Given the description of an element on the screen output the (x, y) to click on. 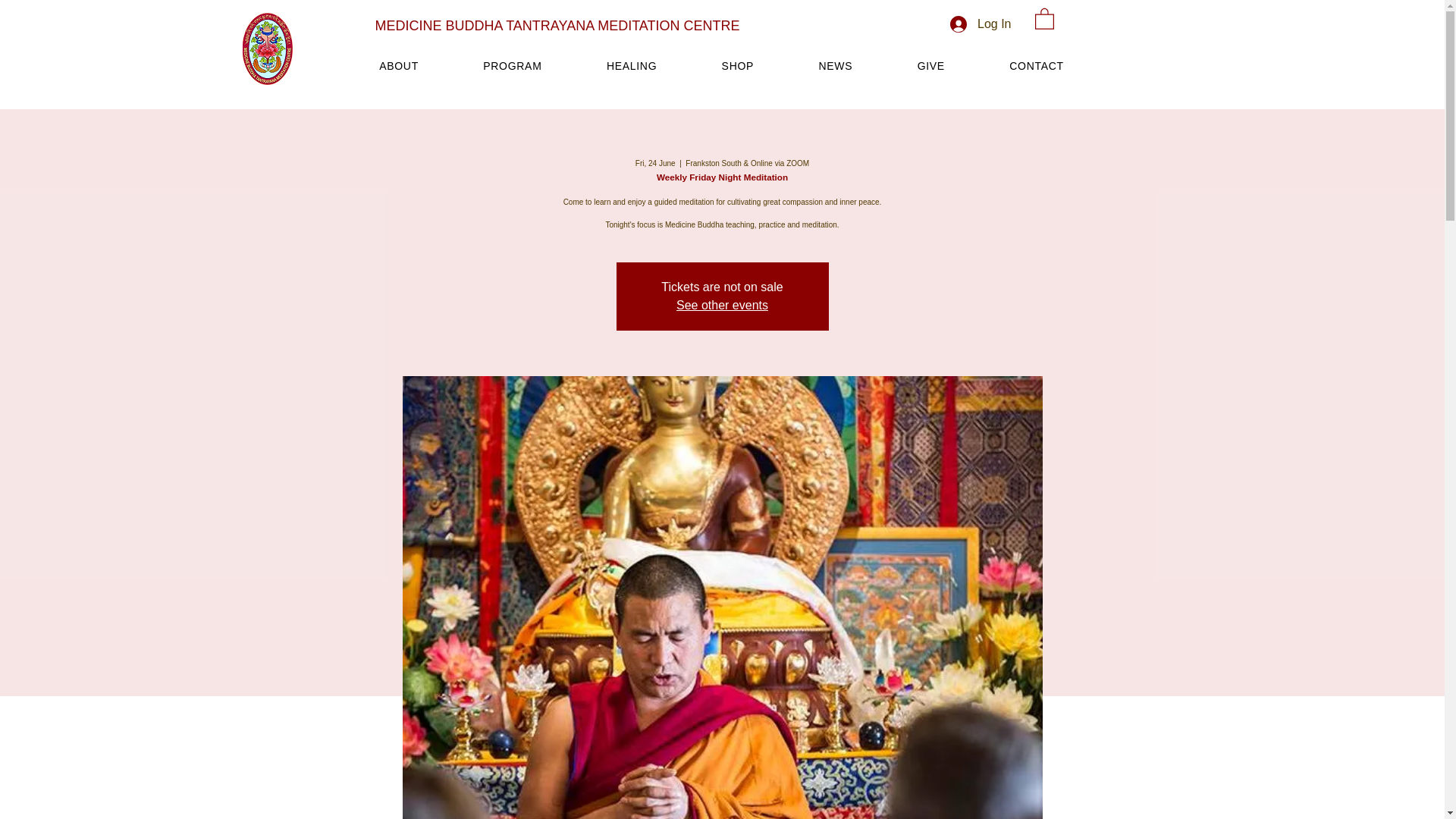
Log In (980, 23)
See other events (722, 305)
NEWS (835, 65)
CONTACT (1036, 65)
MEDICINE BUDDHA TANTRAYANA MEDITATION CENTRE (556, 25)
SHOP (738, 65)
